Given the description of an element on the screen output the (x, y) to click on. 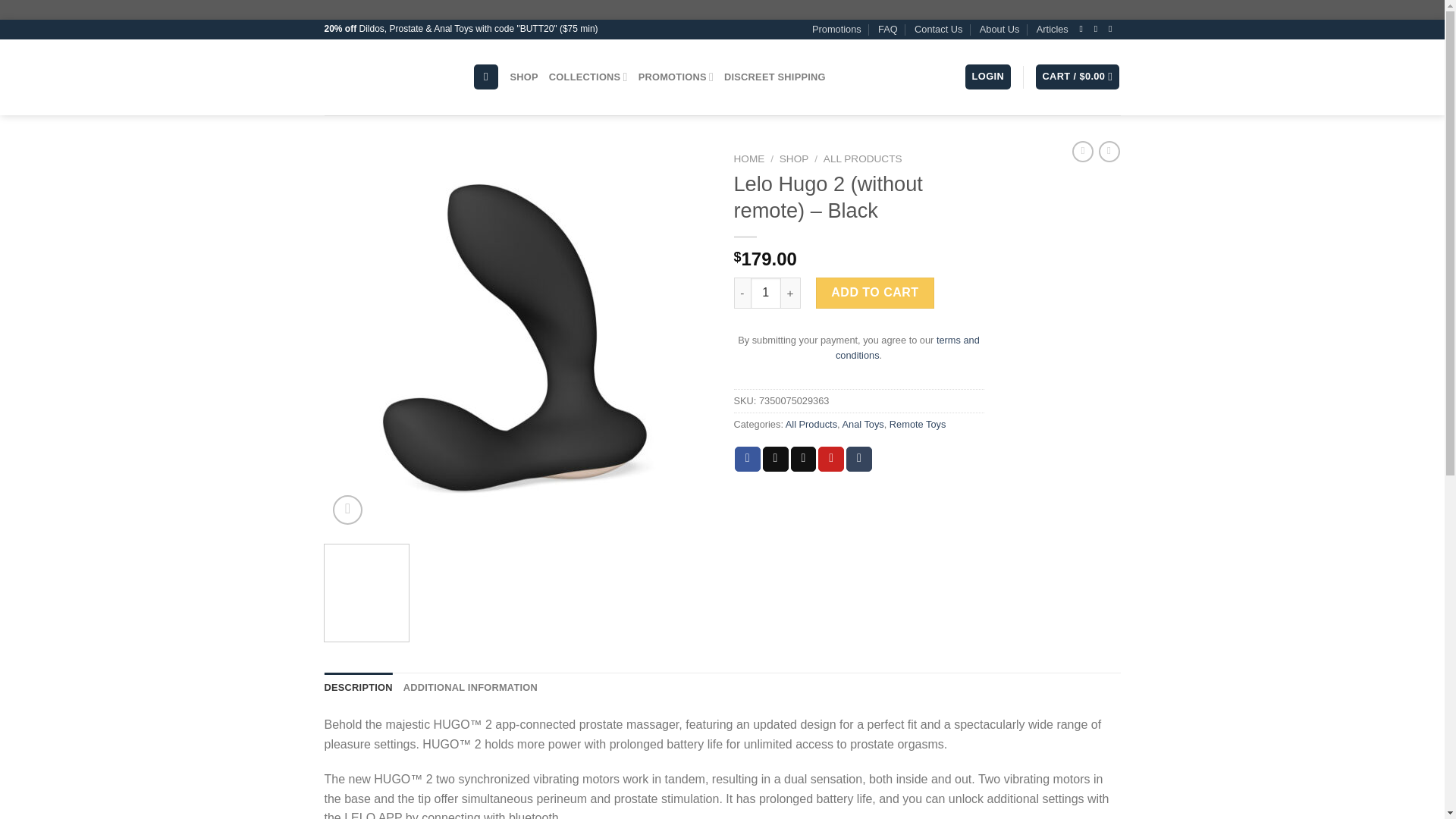
Pin on Pinterest (831, 459)
About Us (999, 29)
SHOP (524, 76)
DISCREET SHIPPING (774, 76)
FAQ (887, 29)
LOGIN (987, 76)
HOME (749, 158)
PROMOTIONS (676, 76)
HappyBed - Sex Toys with Discreet Shipping (386, 76)
Cart (1077, 76)
